Given the description of an element on the screen output the (x, y) to click on. 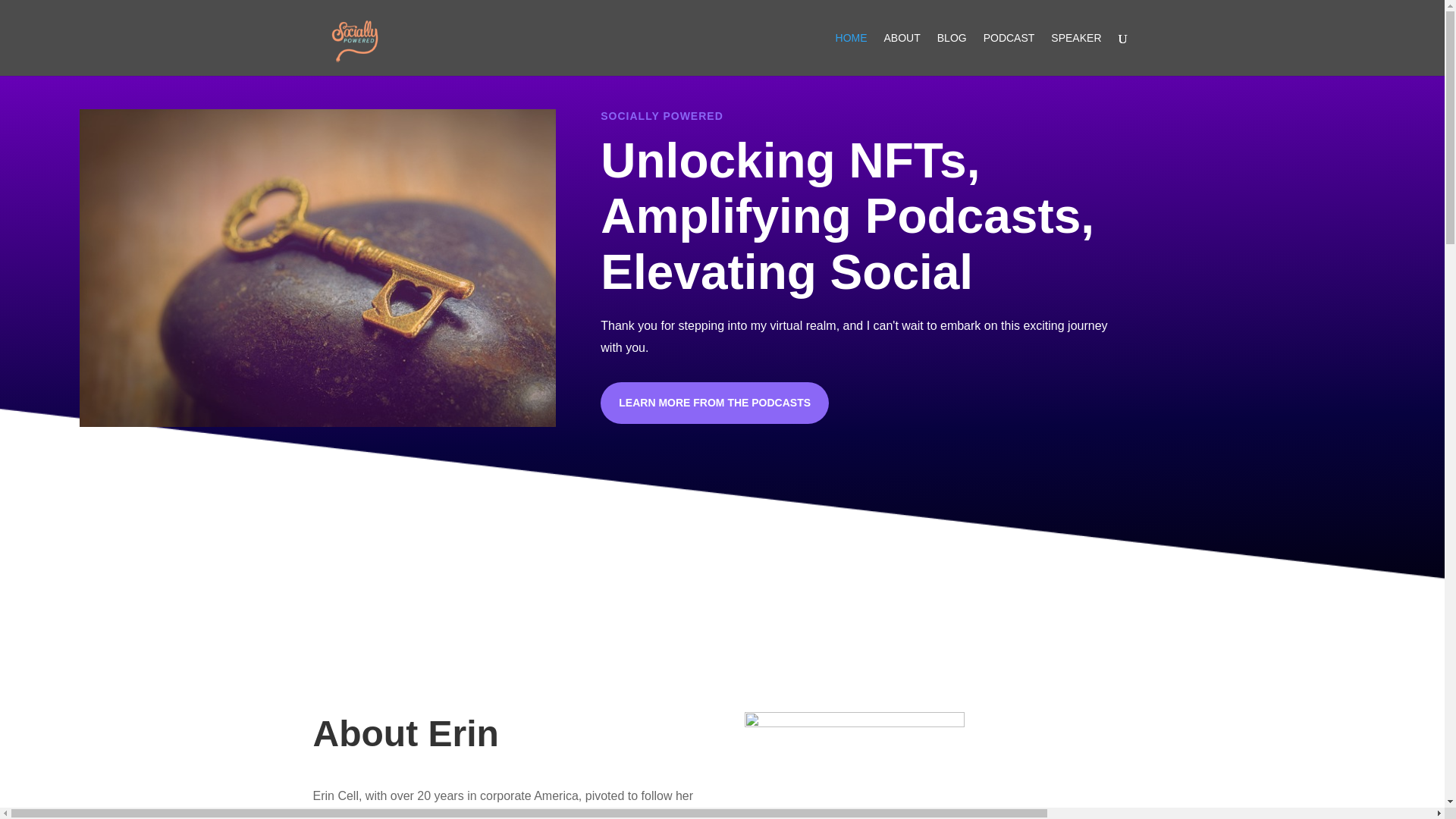
Screen Shot 2023-08-21 at 16.17.29 (853, 765)
LEARN MORE FROM THE PODCASTS (713, 403)
PODCAST (1009, 54)
SPEAKER (1075, 54)
